Given the description of an element on the screen output the (x, y) to click on. 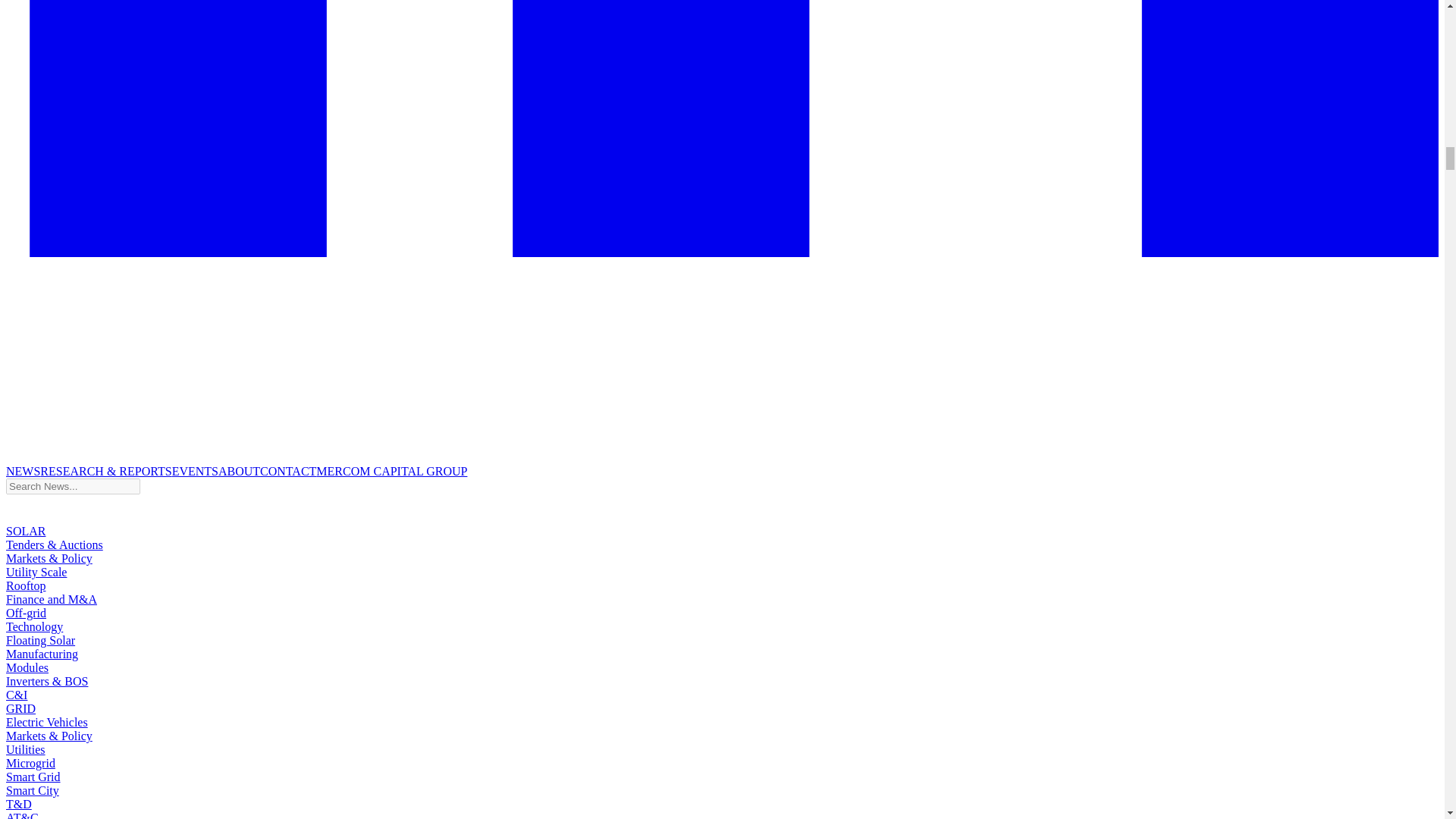
Microgrid (30, 762)
Utilities (25, 748)
EVENTS (194, 471)
NEWS (22, 471)
Utility Scale (35, 571)
Floating Solar (40, 640)
MERCOM CAPITAL GROUP (391, 471)
Smart City (32, 789)
GRID (19, 707)
Off-grid (25, 612)
SOLAR (25, 530)
Technology (33, 626)
CONTACT (287, 471)
Electric Vehicles (46, 721)
Modules (26, 667)
